Given the description of an element on the screen output the (x, y) to click on. 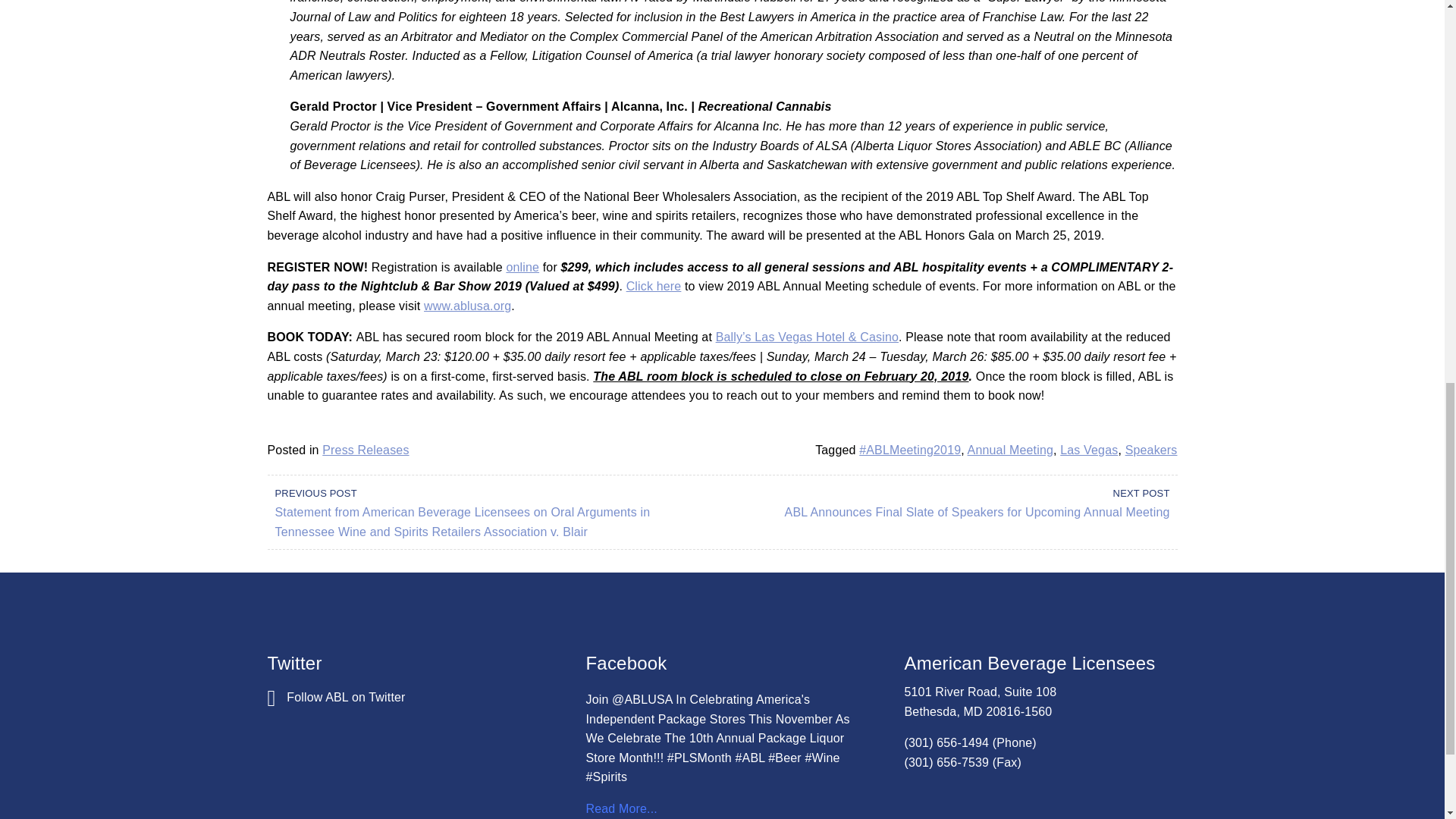
Twitter (335, 697)
